Given the description of an element on the screen output the (x, y) to click on. 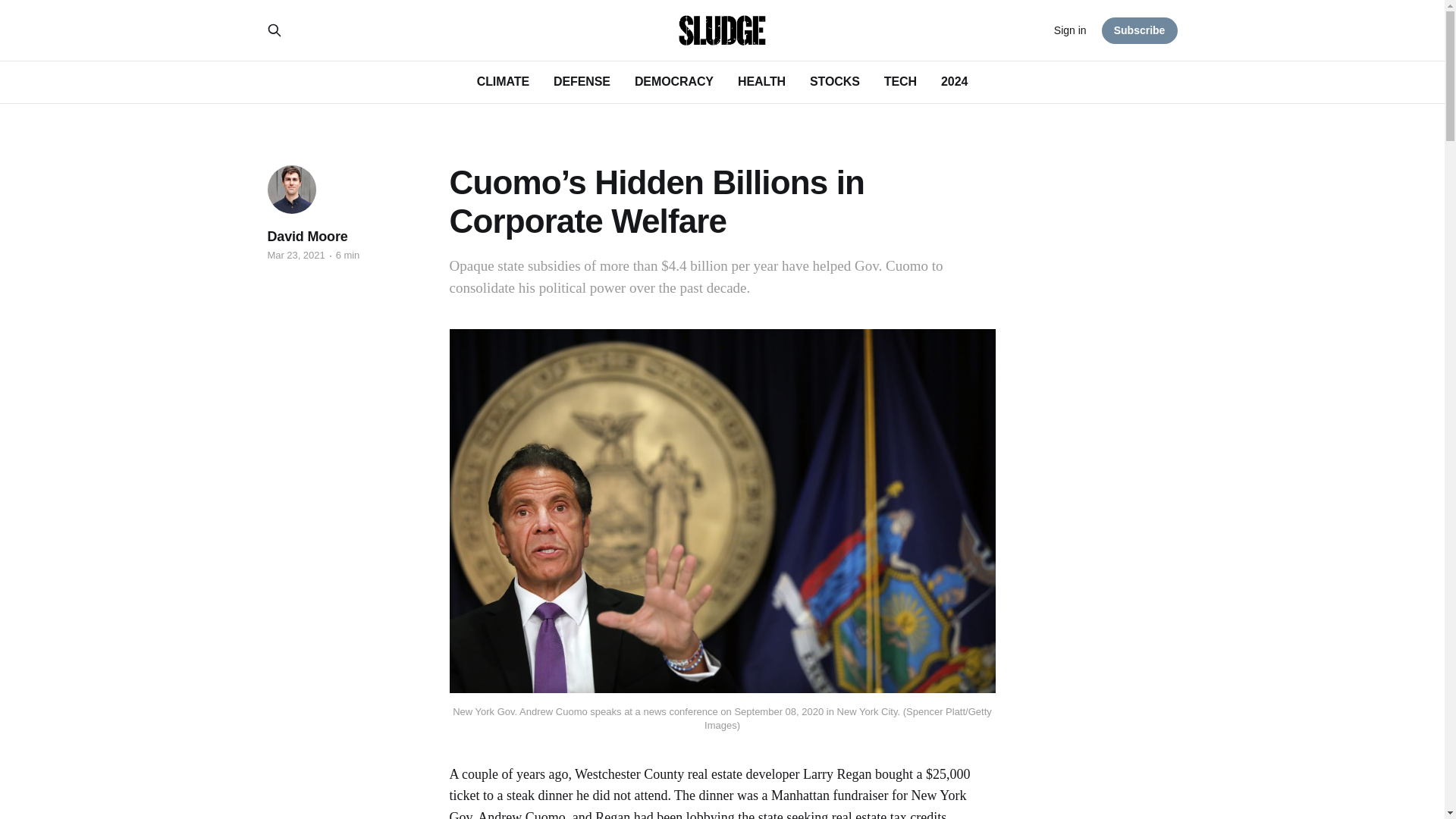
2024 (954, 81)
DEMOCRACY (673, 81)
CLIMATE (503, 81)
Sign in (1070, 30)
Subscribe (1139, 29)
HEALTH (762, 81)
David Moore (306, 236)
DEFENSE (581, 81)
TECH (900, 81)
STOCKS (834, 81)
